Given the description of an element on the screen output the (x, y) to click on. 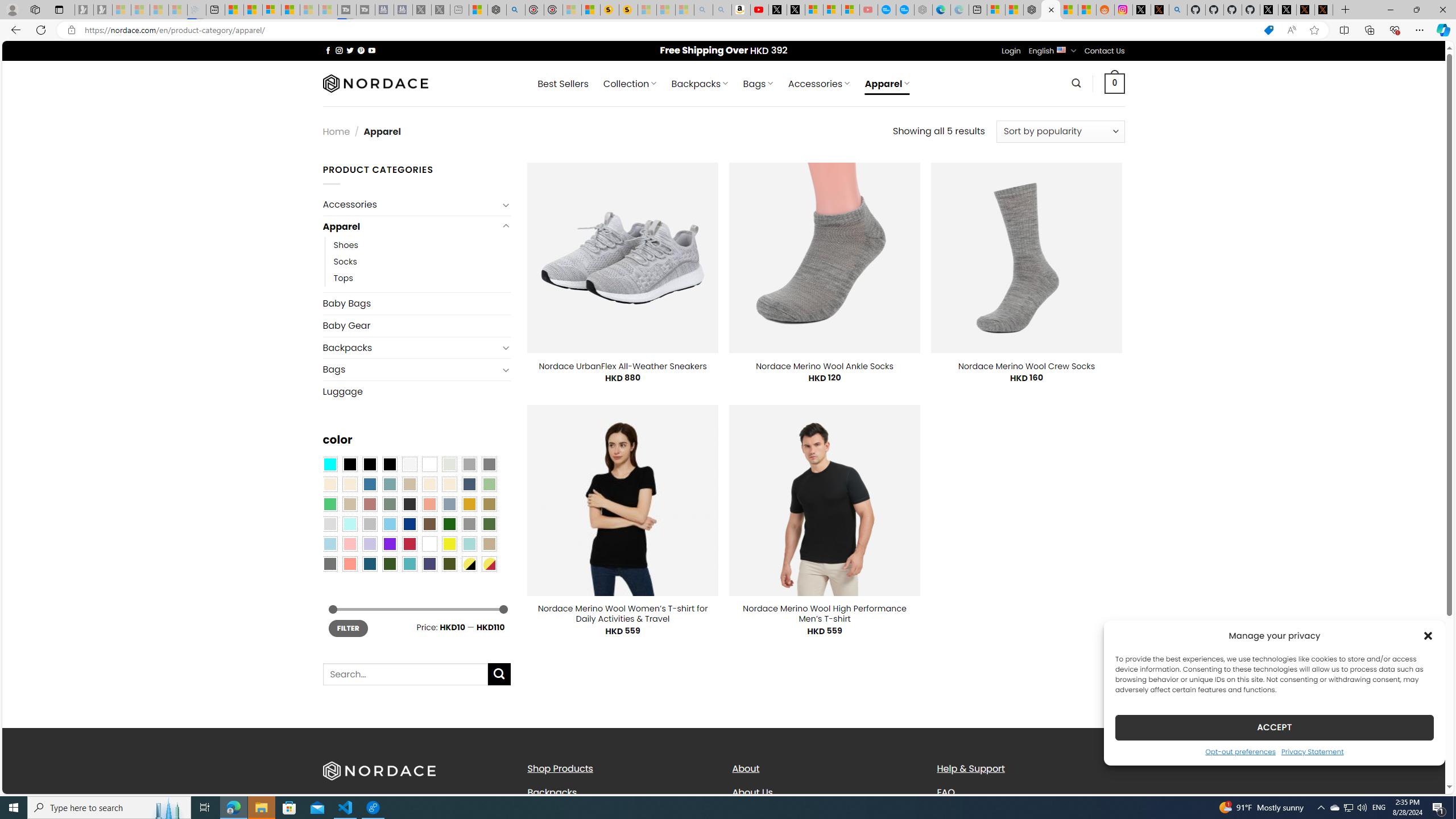
Green (488, 523)
FAQ (1030, 792)
Caramel (429, 483)
Baby Gear (416, 324)
Mint (349, 523)
Light Purple (369, 543)
Teal (408, 563)
Brown (429, 523)
Yellow-Red (488, 563)
